Given the description of an element on the screen output the (x, y) to click on. 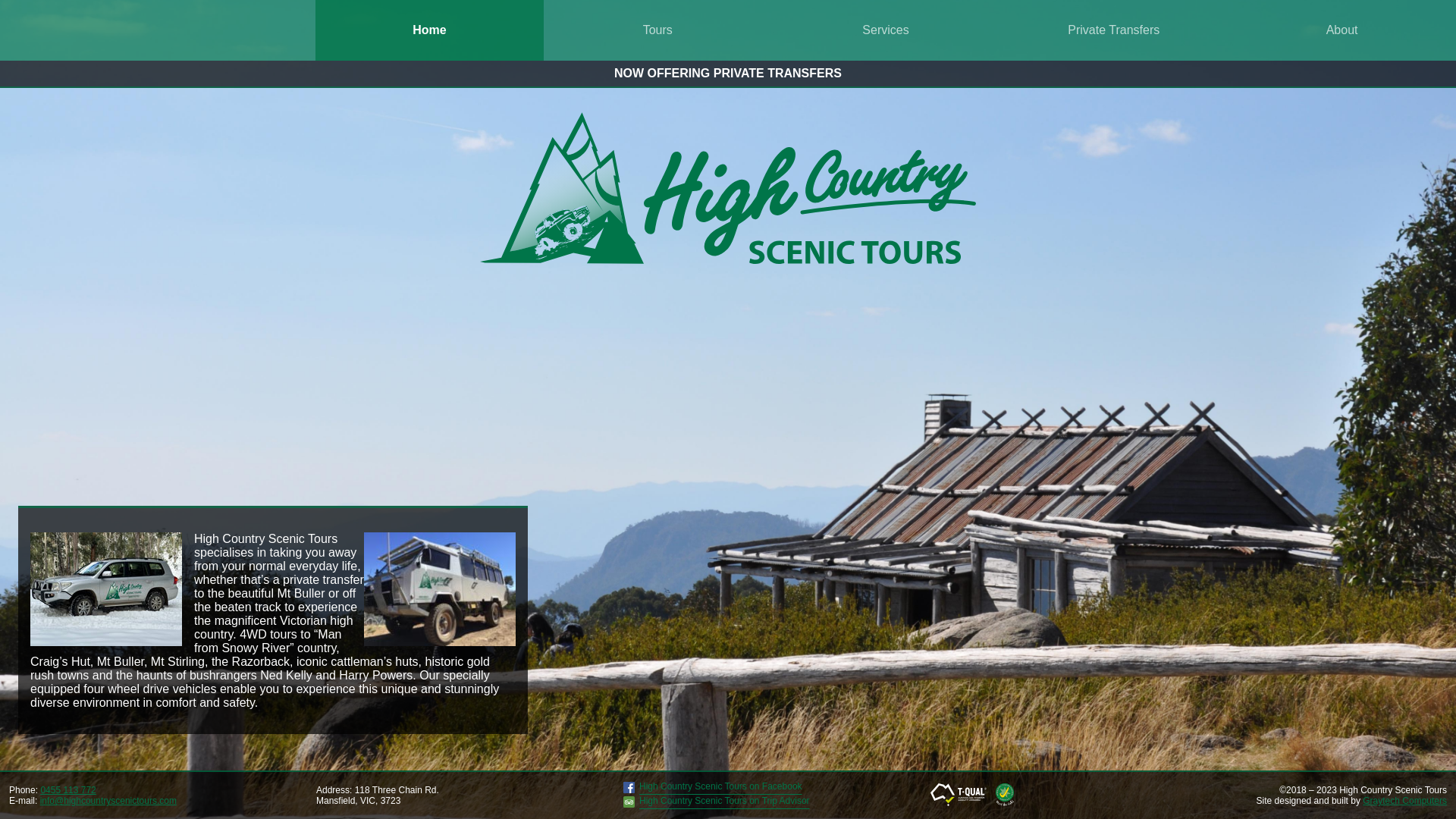
Graytech Computers Element type: text (1404, 800)
Private Transfers Element type: text (1113, 30)
NOW OFFERING PRIVATE TRANSFERS Element type: text (727, 72)
0455 113 772 Element type: text (67, 789)
Tours Element type: text (657, 30)
info@highcountryscenictours.com Element type: text (108, 800)
Services Element type: text (885, 30)
High Country Scenic Tours on Facebook Element type: text (712, 789)
High Country Scenic Tours on Trip Advisor Element type: text (716, 804)
